Given the description of an element on the screen output the (x, y) to click on. 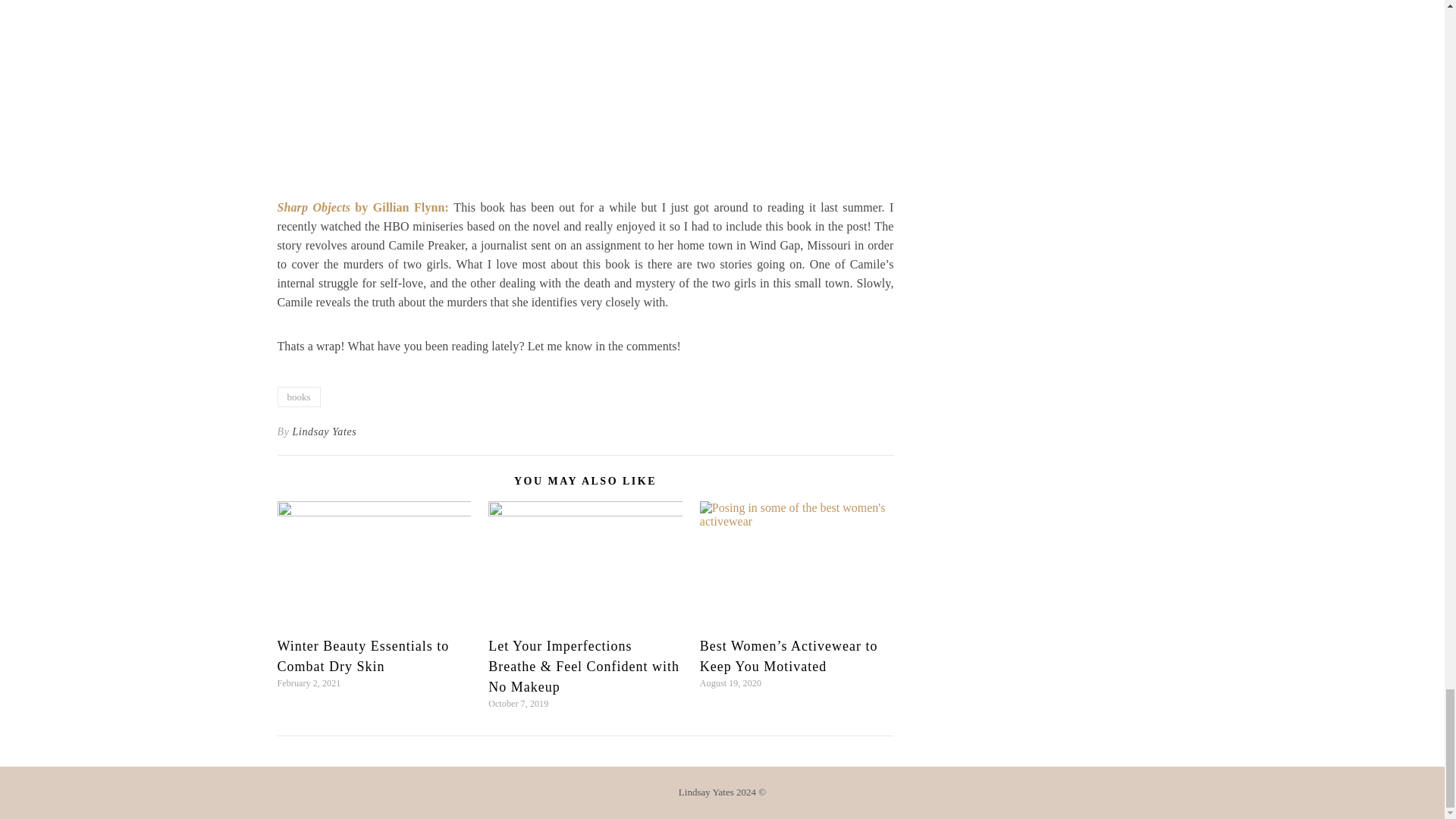
Sharp Objects by Gillian Flynn: (363, 205)
Winter Beauty Essentials to Combat Dry Skin (363, 656)
books (299, 396)
Posts by Lindsay Yates (324, 431)
Lindsay Yates (324, 431)
